Given the description of an element on the screen output the (x, y) to click on. 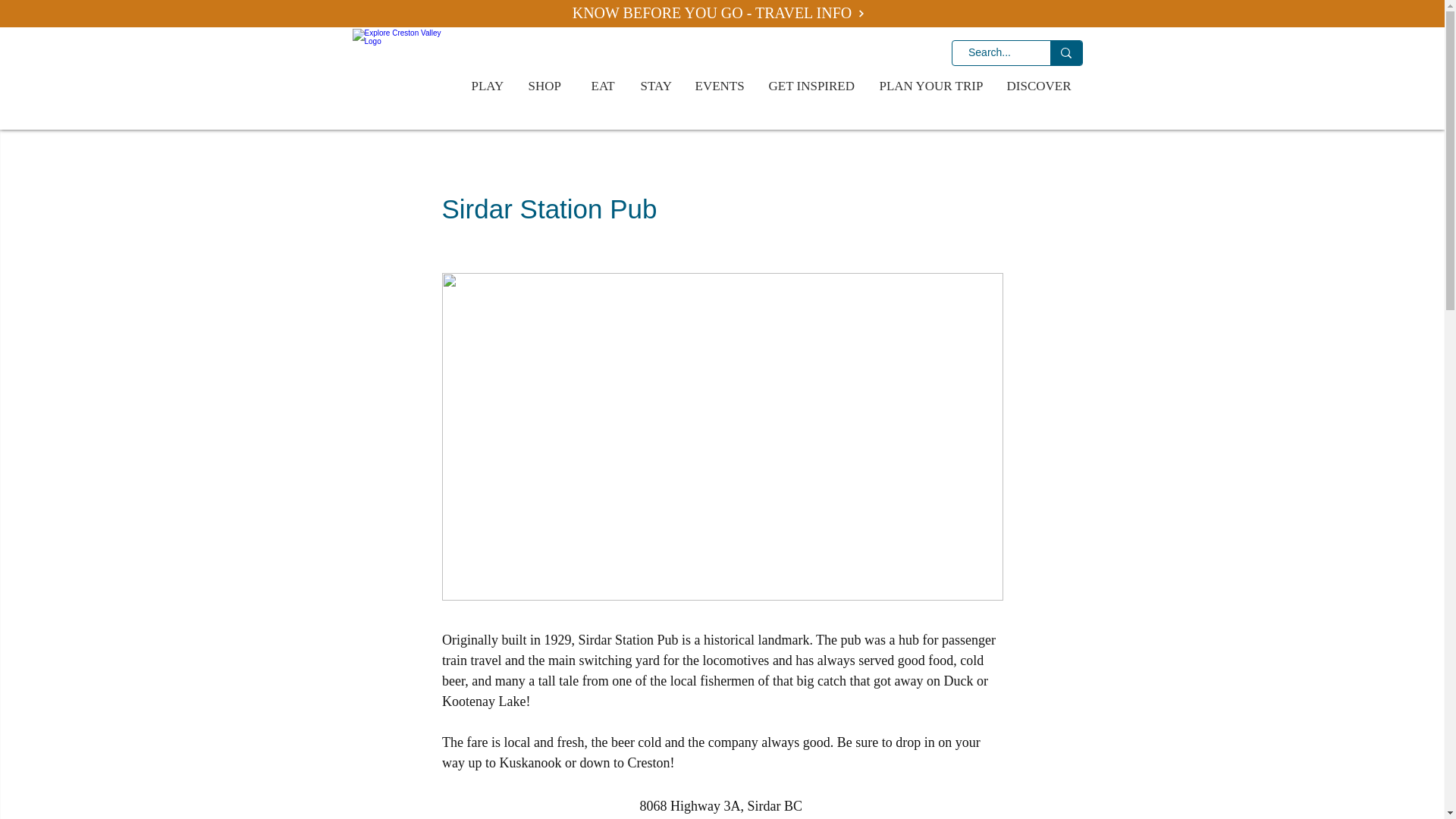
GET INSPIRED (812, 86)
DISCOVER (1040, 86)
SHOP (547, 86)
EVENTS (720, 86)
PLAN YOUR TRIP (930, 86)
EAT (603, 86)
STAY (656, 86)
PLAY (488, 86)
KNOW BEFORE YOU GO - TRAVEL INFO (718, 13)
